Given the description of an element on the screen output the (x, y) to click on. 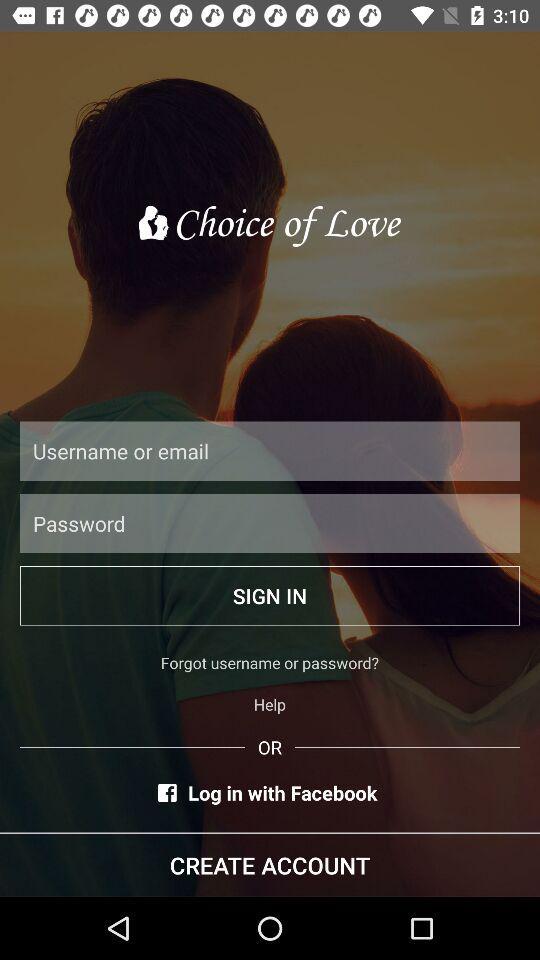
turn off item above forgot username or icon (269, 595)
